Given the description of an element on the screen output the (x, y) to click on. 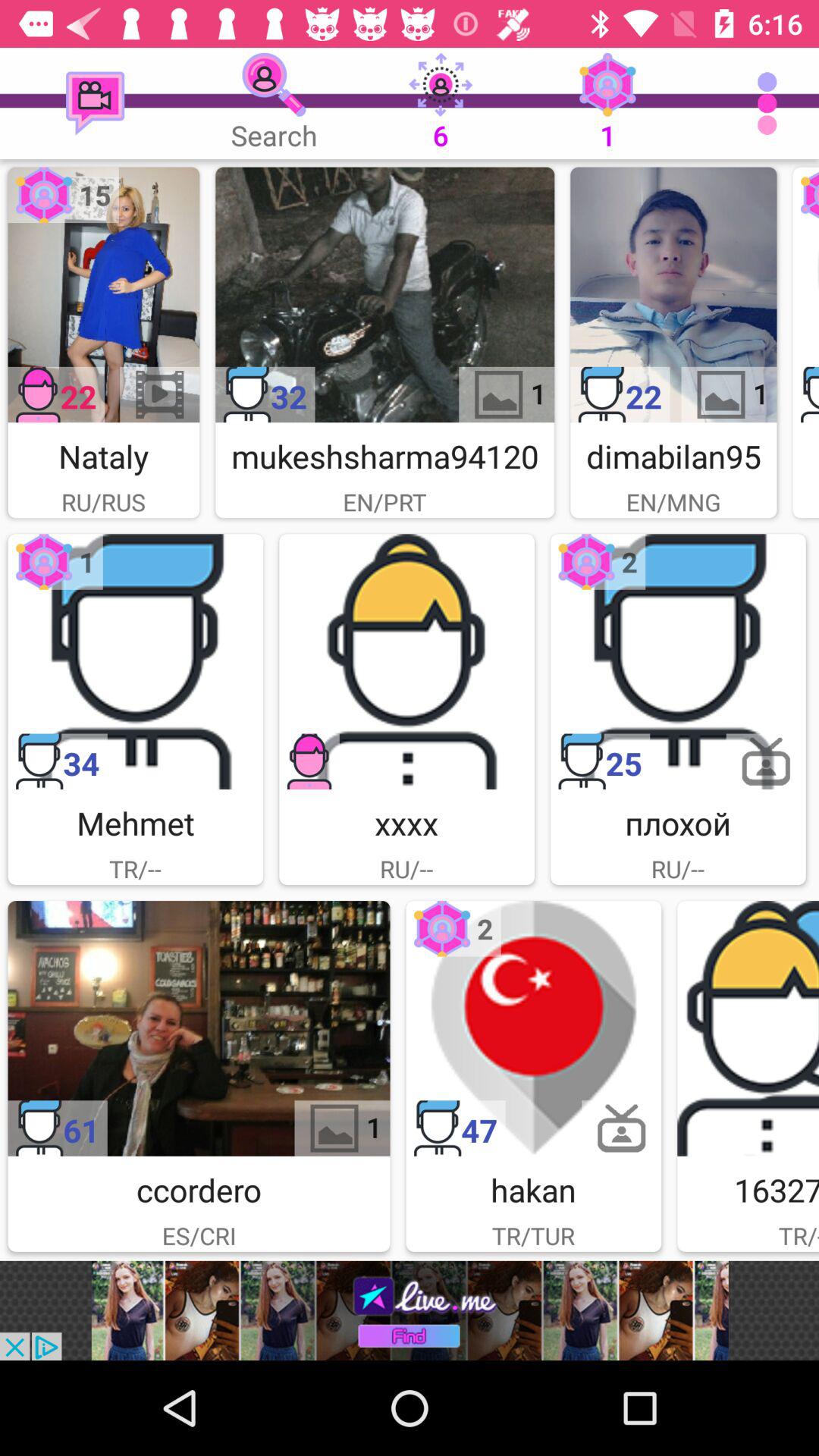
open profile (103, 294)
